Given the description of an element on the screen output the (x, y) to click on. 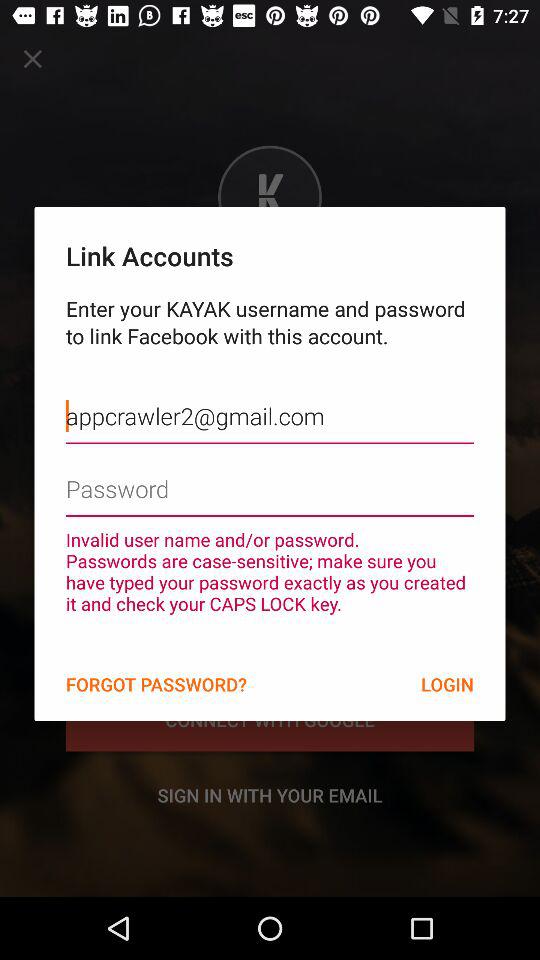
select item below invalid user name icon (156, 683)
